Given the description of an element on the screen output the (x, y) to click on. 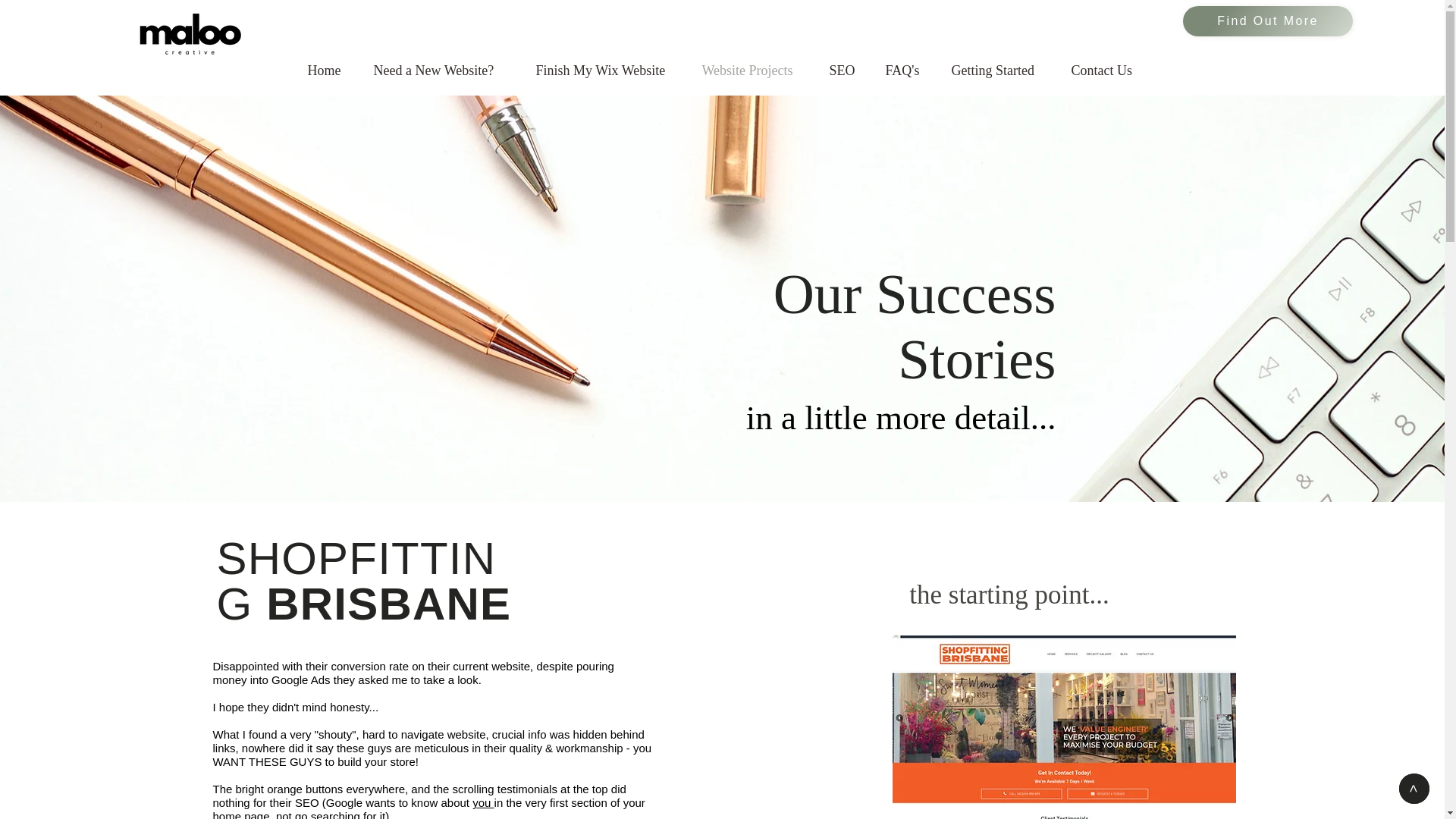
Getting Started (995, 70)
Website Projects (750, 70)
FAQ's (903, 70)
Contact Us (1103, 70)
SHOPFITTING BRISBANE (364, 581)
Finish My Wix Website (602, 70)
Find Out More (1267, 20)
Need a New Website? (438, 70)
Home (325, 70)
SEO (841, 70)
